Given the description of an element on the screen output the (x, y) to click on. 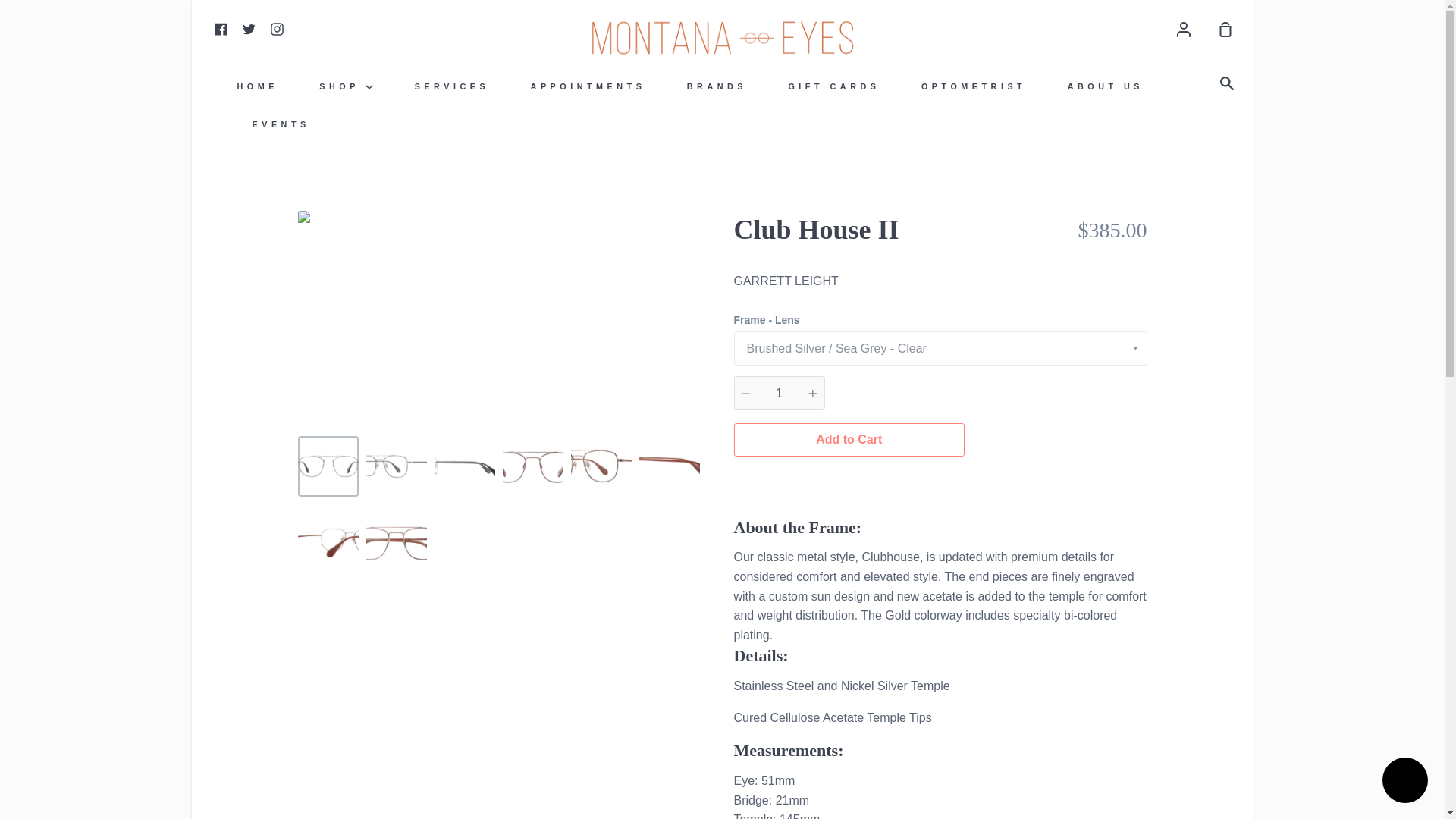
BRANDS (716, 86)
1 (779, 392)
SERVICES (451, 86)
Montana Eyes LA on Twitter (249, 28)
Instagram (275, 28)
APPOINTMENTS (588, 86)
Montana Eyes LA on Instagram (275, 28)
GIFT CARDS (833, 86)
Twitter (249, 28)
Facebook (220, 28)
